Given the description of an element on the screen output the (x, y) to click on. 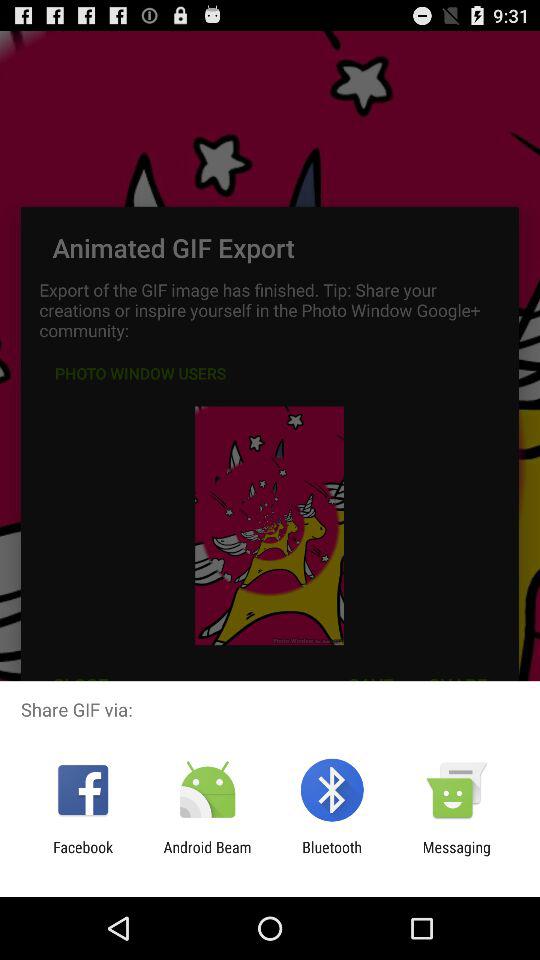
tap item to the left of android beam item (83, 856)
